Given the description of an element on the screen output the (x, y) to click on. 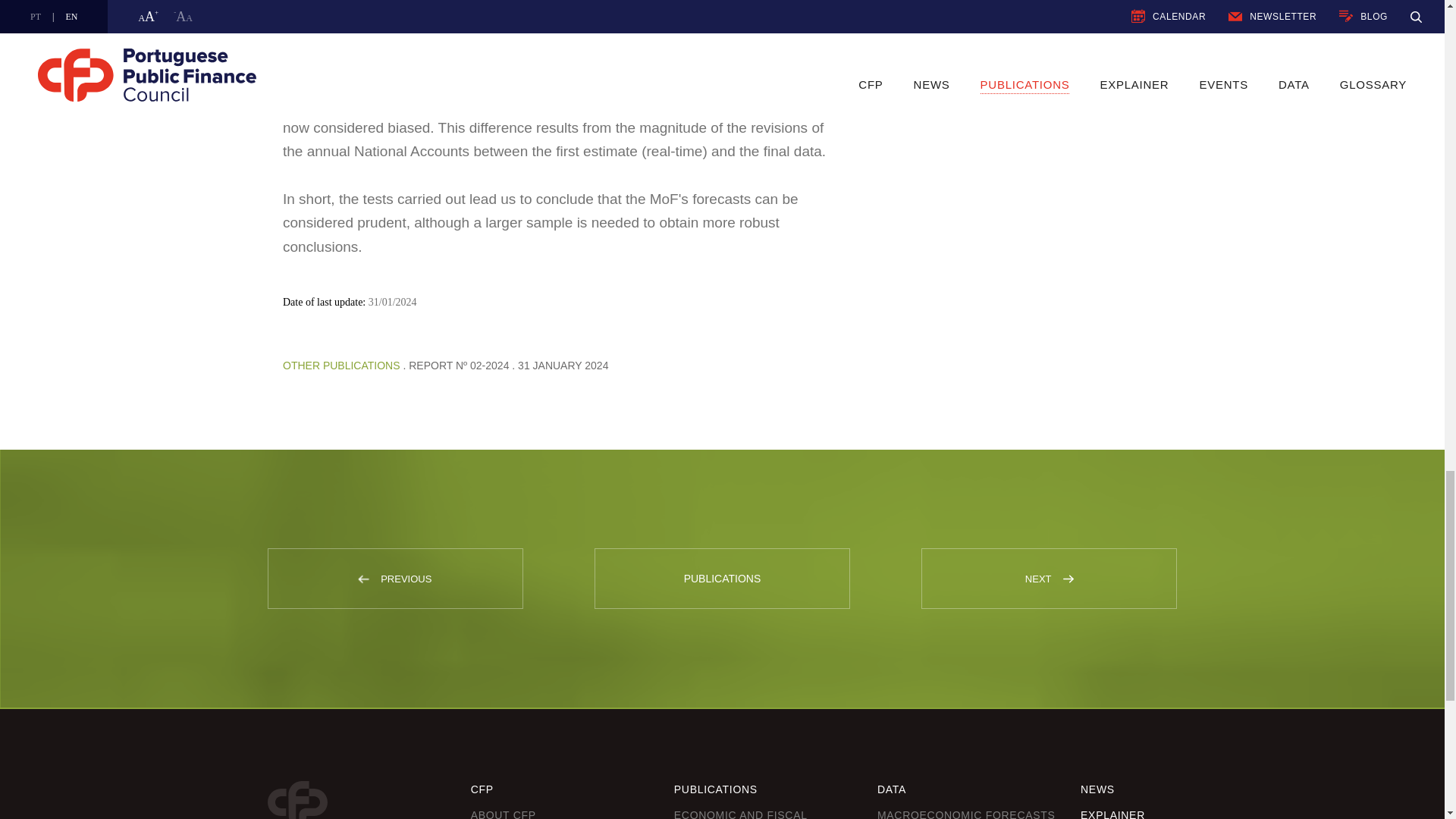
OTHER PUBLICATIONS (341, 365)
Next (1068, 578)
PUBLICATIONS (722, 578)
Previous (363, 578)
PREVIOUS (394, 578)
ABOUT CFP (502, 814)
NEXT (1048, 578)
Logo CFP (296, 800)
